Given the description of an element on the screen output the (x, y) to click on. 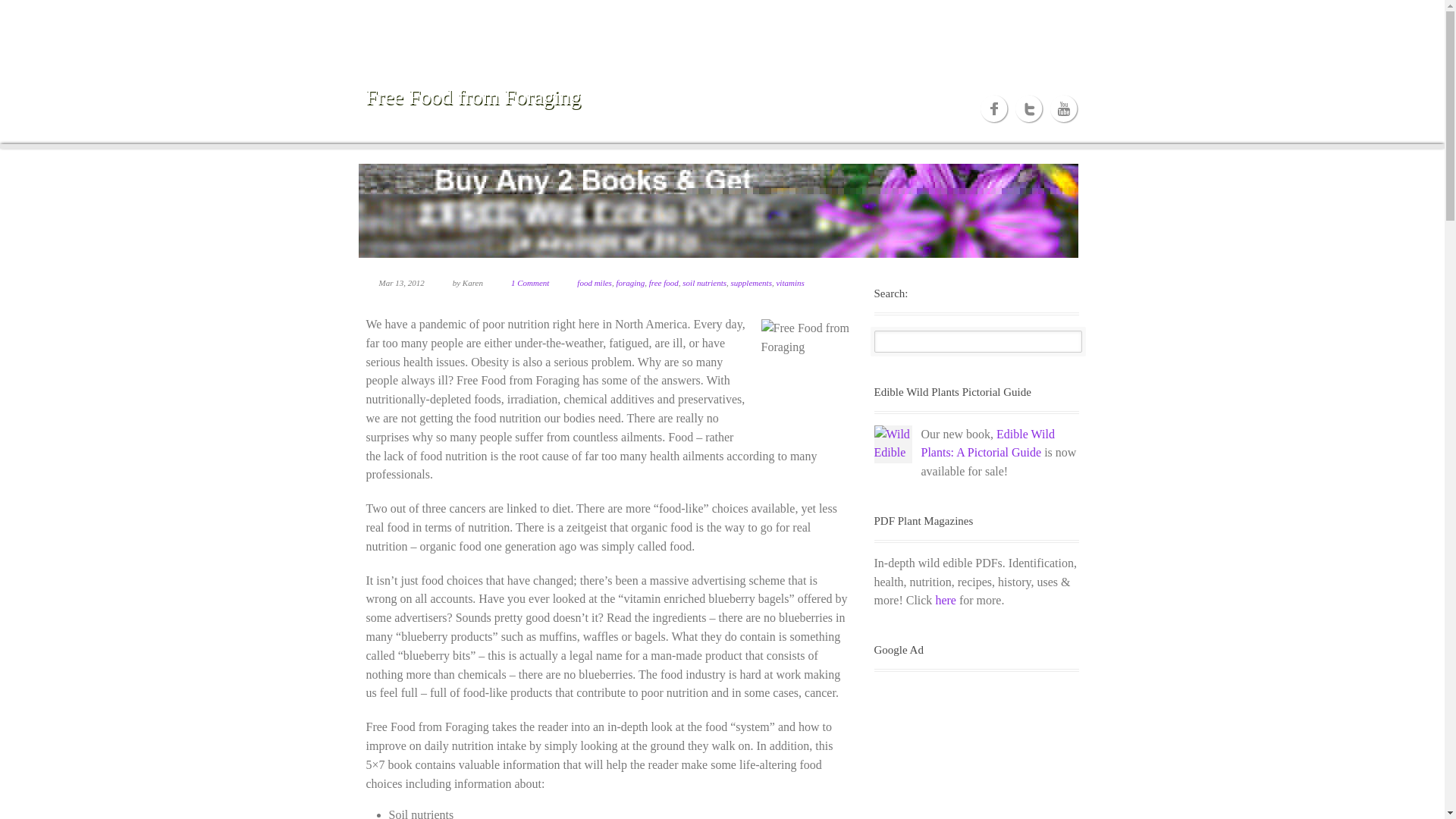
Fungi (712, 24)
Edible Weeds  (677, 24)
Edible Mushrooms (712, 24)
foraging (630, 282)
Foraging (947, 24)
Store (1051, 24)
Flowers (861, 24)
Blog (1021, 24)
Aquatics (751, 24)
food miles (593, 282)
Wild Edible Magazines (945, 599)
soil nutrients (704, 282)
Recipes (902, 24)
Blog (1021, 24)
Wild Edibles Store (1051, 24)
